Given the description of an element on the screen output the (x, y) to click on. 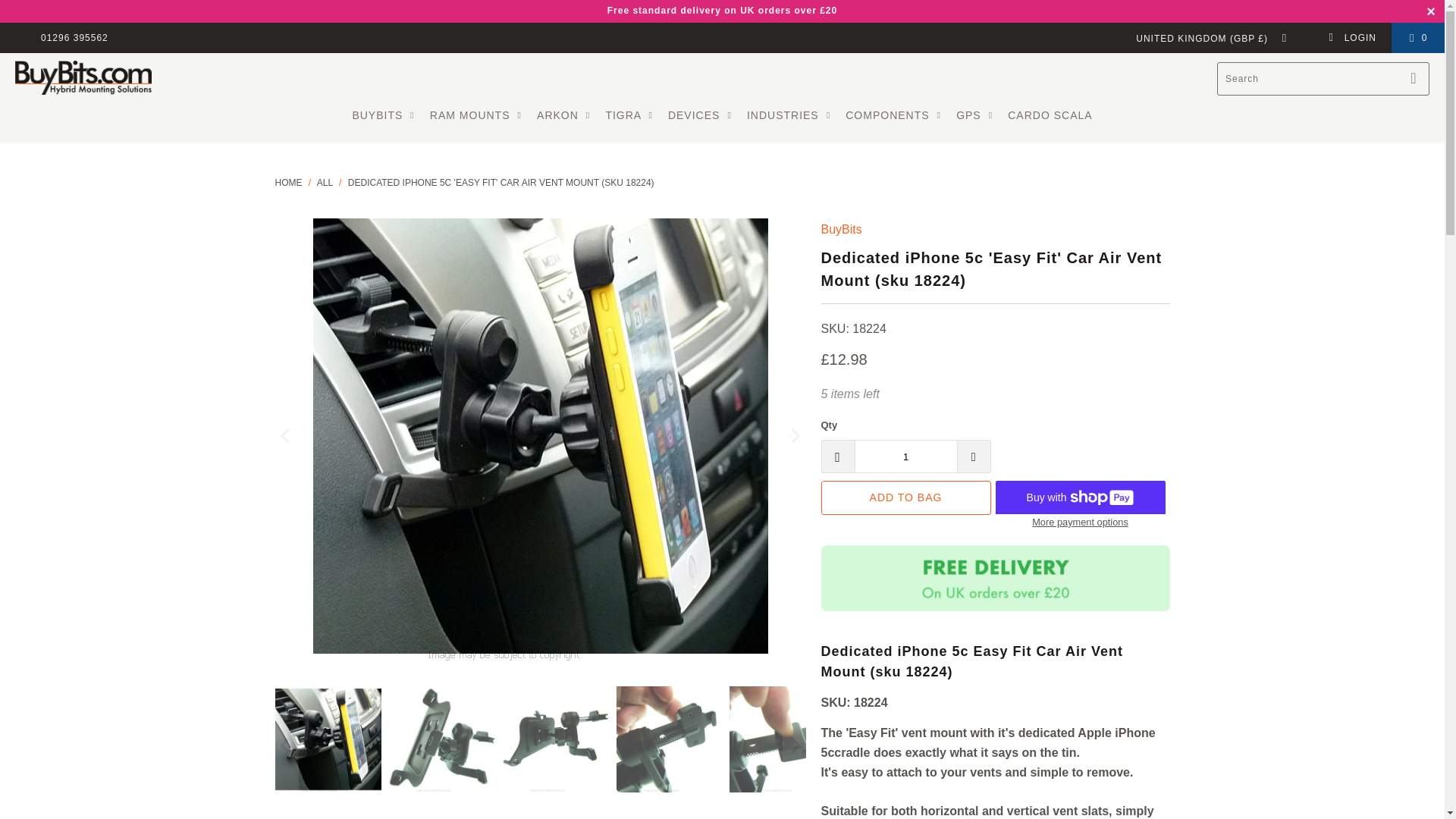
My Account  (1351, 37)
All (325, 182)
BuyBits Ltd (288, 182)
BuyBits Ltd (82, 78)
1 (904, 456)
BuyBits (841, 228)
